Given the description of an element on the screen output the (x, y) to click on. 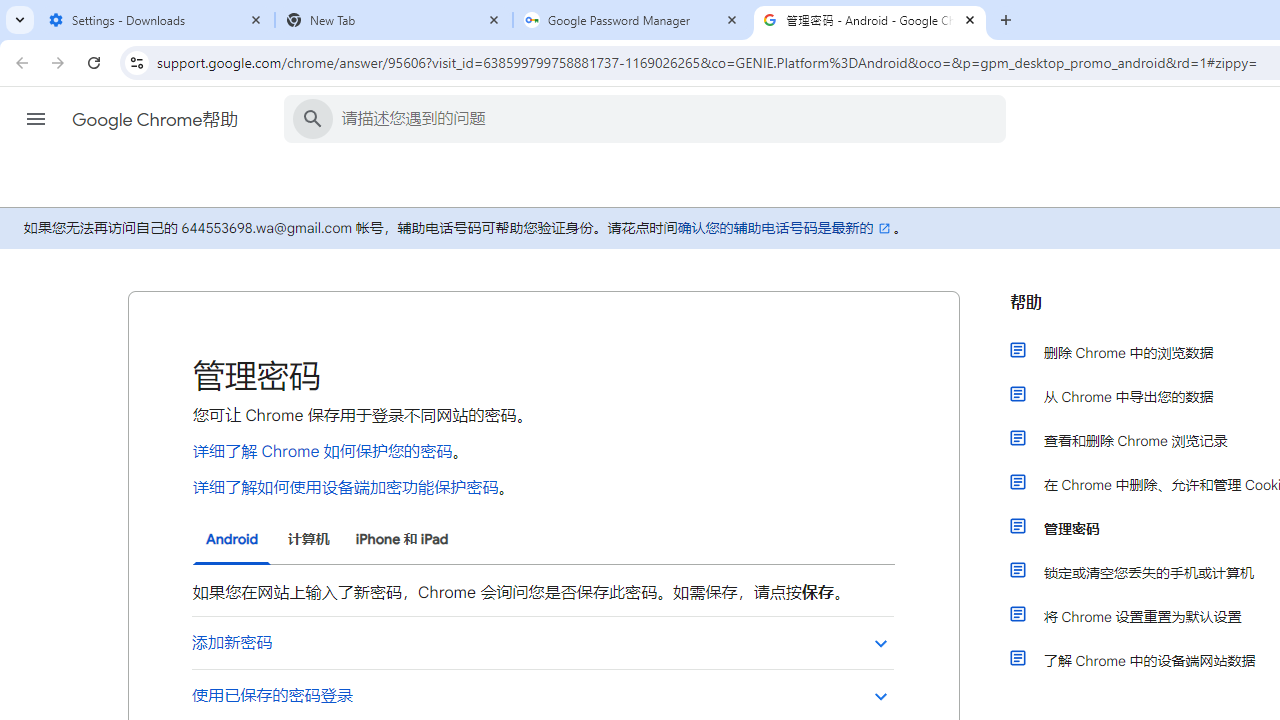
Settings - Downloads (156, 20)
